Given the description of an element on the screen output the (x, y) to click on. 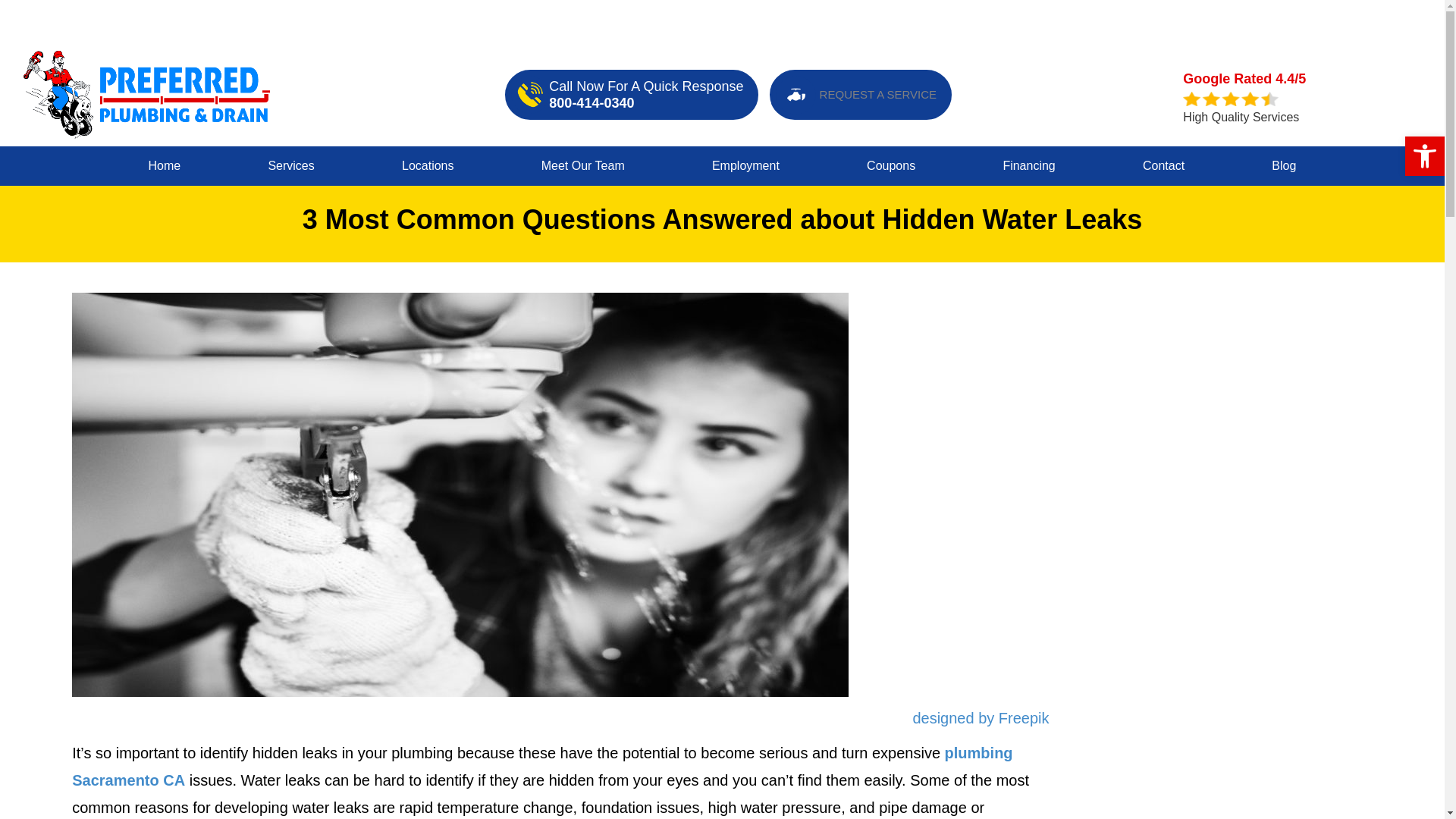
facebook (1120, 21)
Home (164, 165)
Accessibility Tools (1424, 156)
youtube (1174, 21)
Services (290, 165)
REQUEST A SERVICE (856, 94)
800-414-0340 (590, 102)
